Given the description of an element on the screen output the (x, y) to click on. 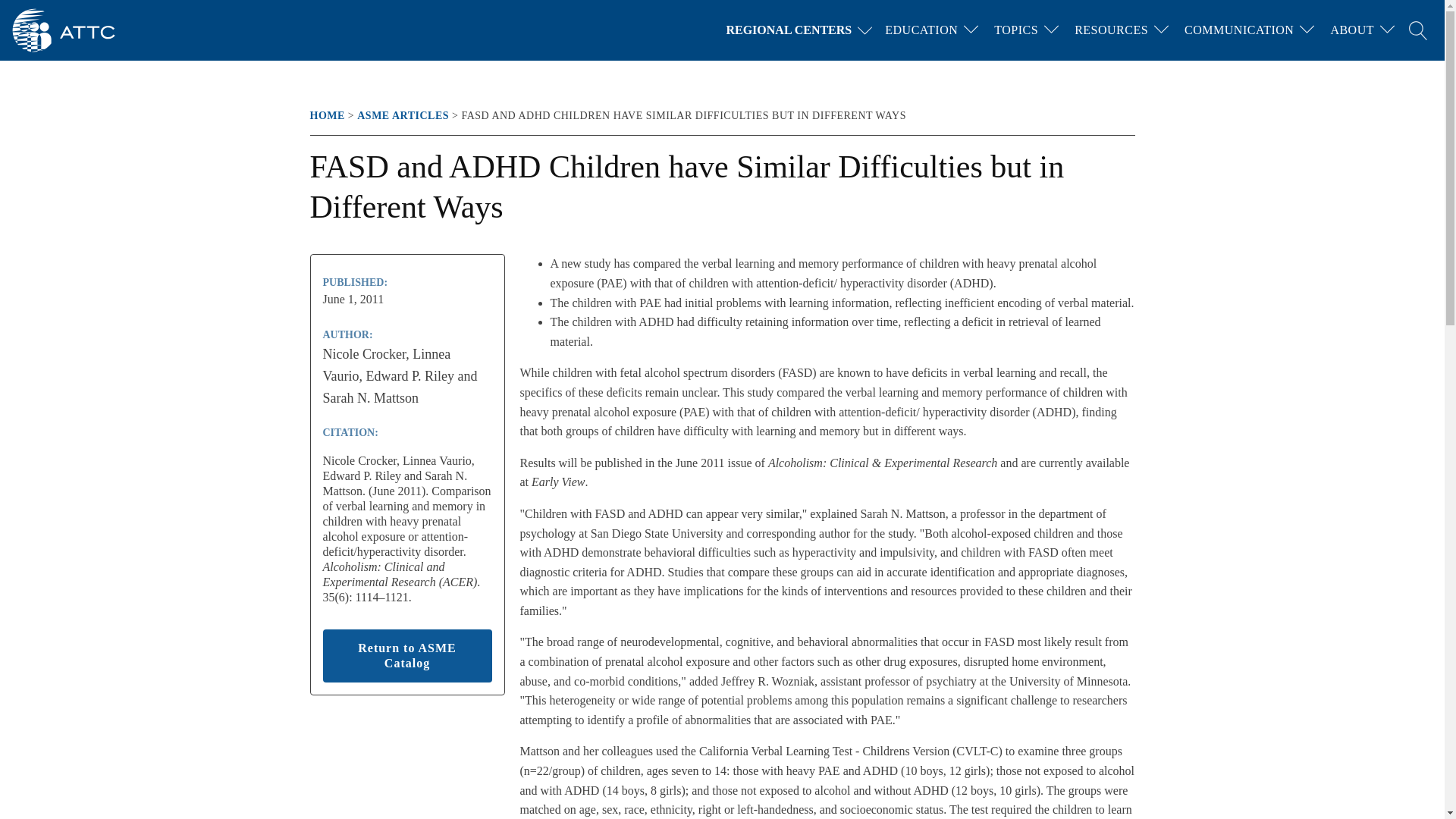
EDUCATION (921, 30)
RESOURCES (1111, 30)
TOPICS (1015, 30)
REGIONAL CENTERS (802, 30)
